Given the description of an element on the screen output the (x, y) to click on. 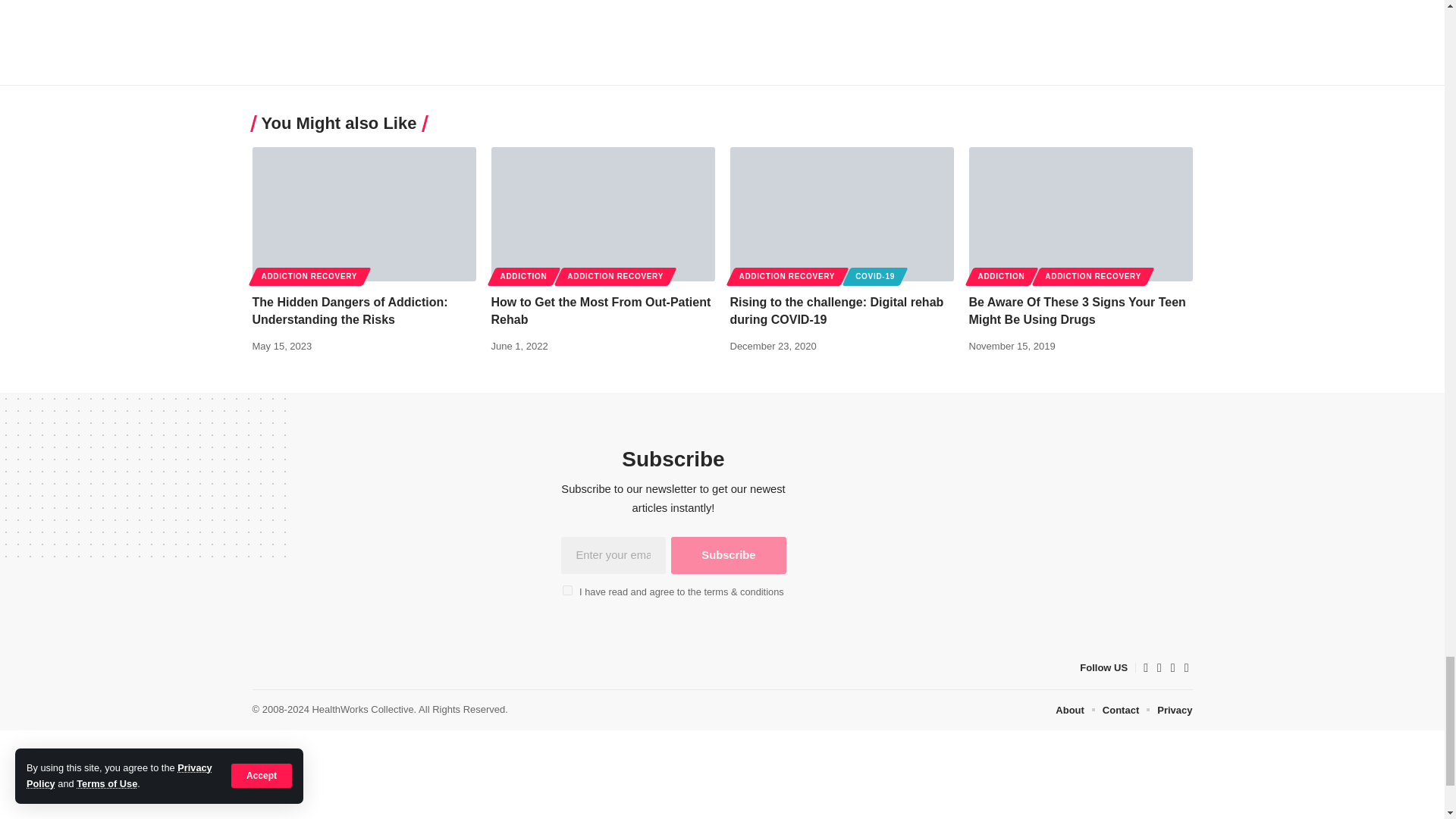
1 (567, 590)
Subscribe (728, 555)
